Given the description of an element on the screen output the (x, y) to click on. 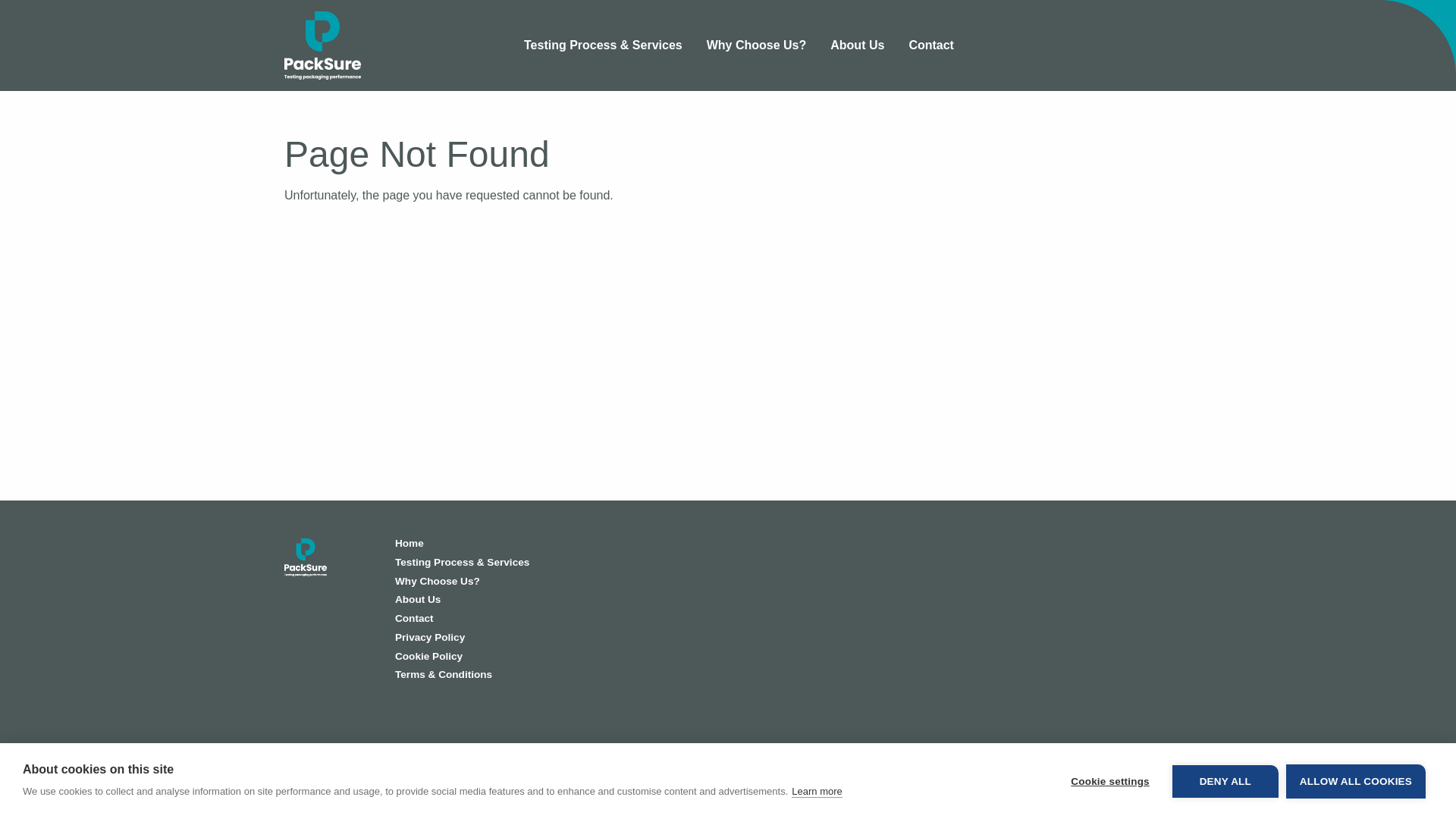
Contact (549, 622)
Contact (931, 45)
Learn more (816, 791)
Cookie settings (1109, 780)
Why Choose Us? (756, 45)
Cookie Policy (549, 660)
ALLOW ALL COOKIES (1355, 781)
Privacy Policy (549, 641)
DENY ALL (1225, 780)
About Us (549, 603)
Home (549, 547)
Why Choose Us? (549, 585)
About Us (857, 45)
